Given the description of an element on the screen output the (x, y) to click on. 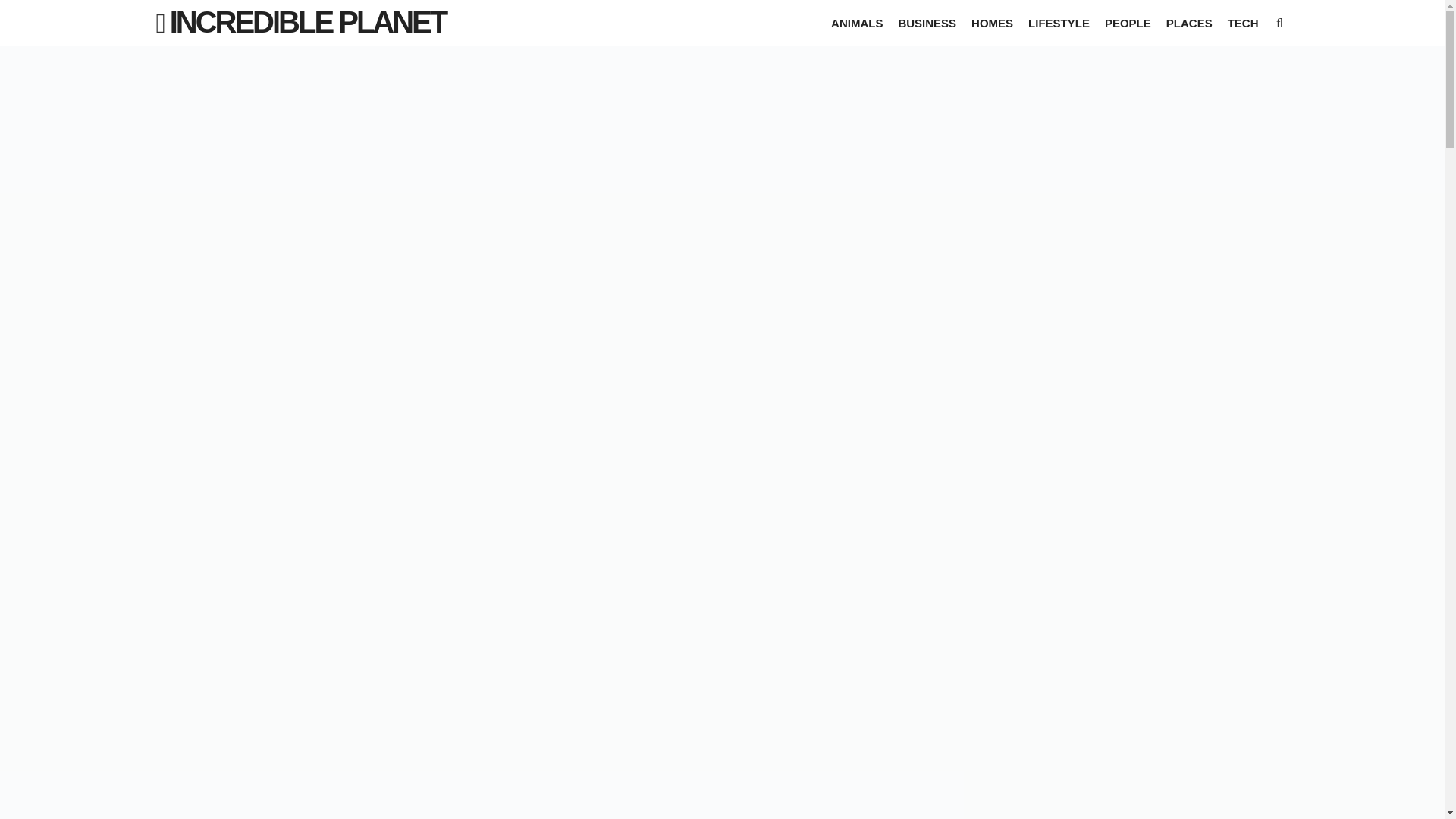
PEOPLE (1128, 22)
PLACES (1189, 22)
BUSINESS (927, 22)
INCREDIBLE PLANET (308, 21)
TECH (1243, 22)
LIFESTYLE (1058, 22)
Search (25, 11)
HOMES (992, 22)
ANIMALS (856, 22)
